Given the description of an element on the screen output the (x, y) to click on. 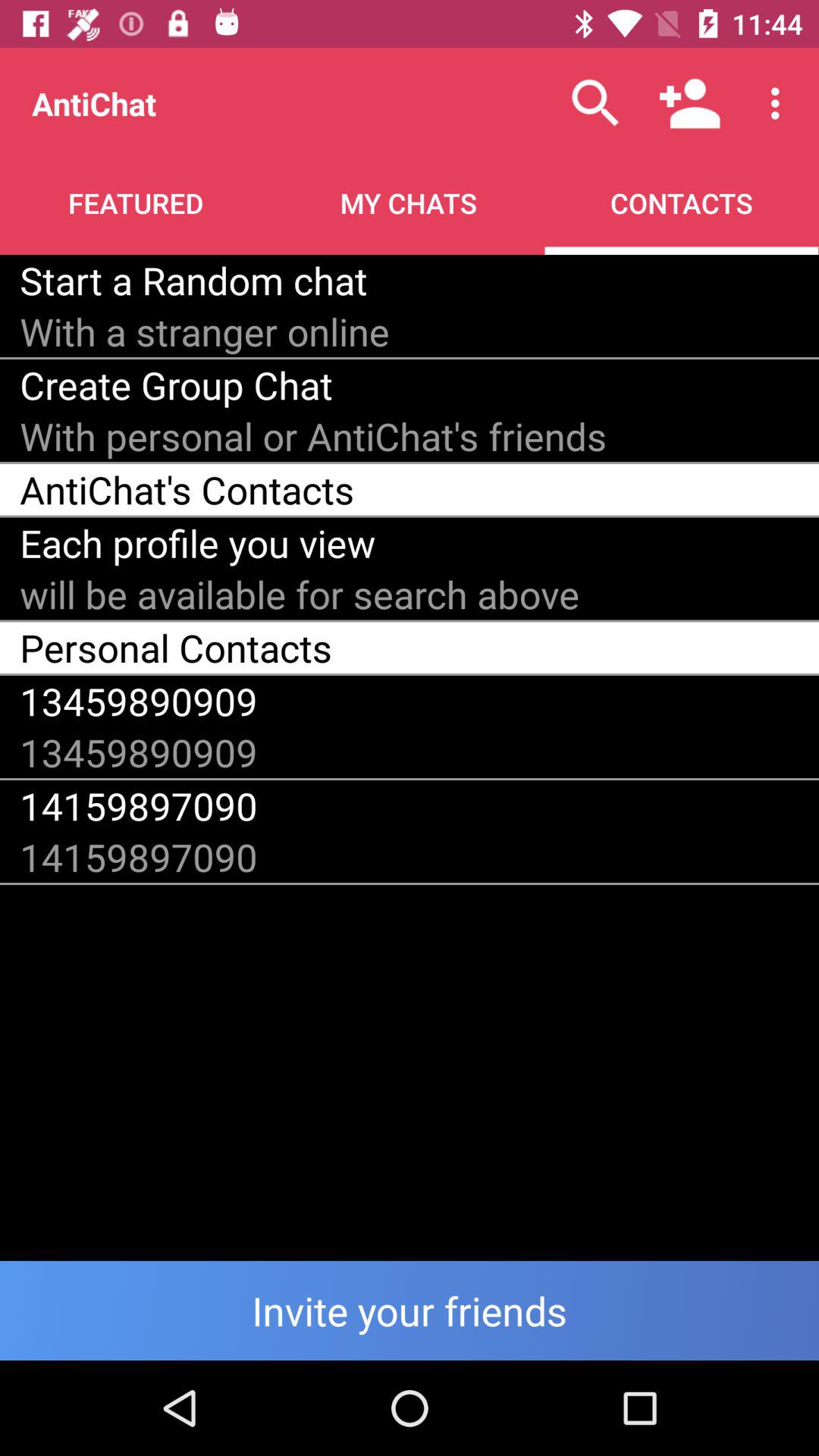
open invite option invite a friend (409, 1310)
